Given the description of an element on the screen output the (x, y) to click on. 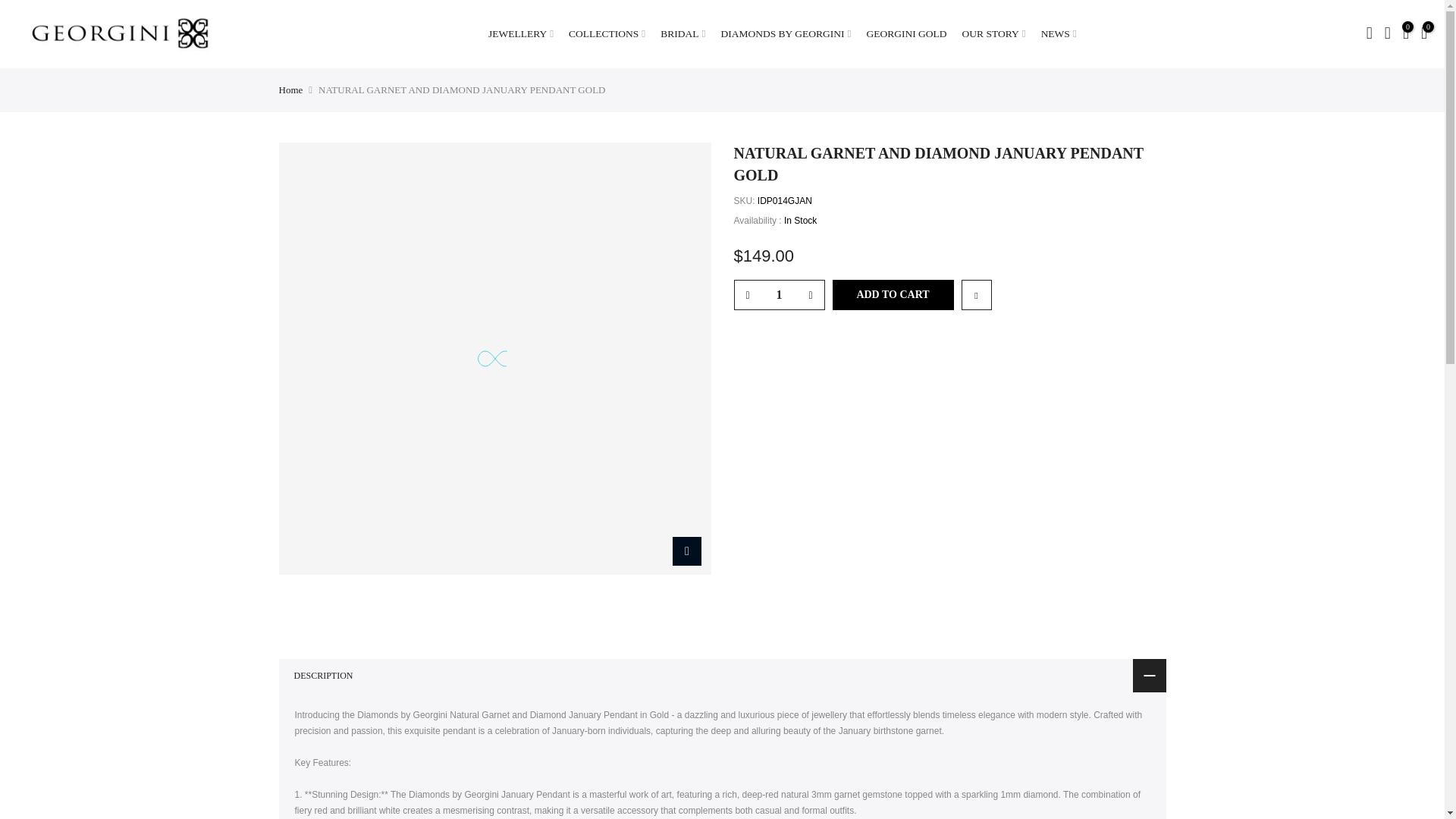
1 (778, 294)
DESCRIPTION (722, 675)
JEWELLERY (520, 33)
OUR STORY (994, 33)
0 (1405, 33)
GEORGINI GOLD (906, 33)
ADD TO CART (892, 295)
DIAMONDS BY GEORGINI (786, 33)
Home (290, 89)
COLLECTIONS (606, 33)
